Given the description of an element on the screen output the (x, y) to click on. 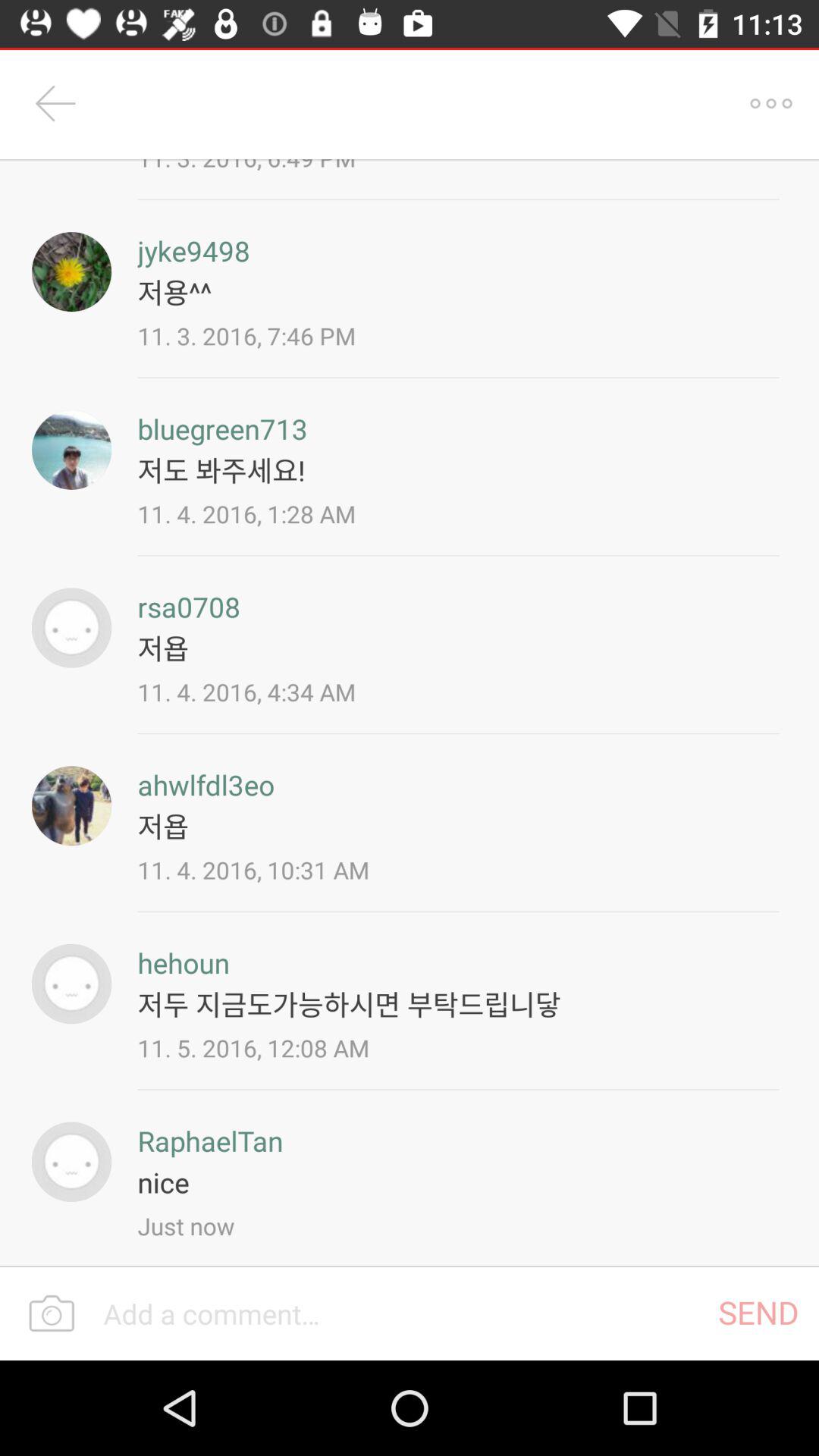
profile symbol (71, 805)
